Given the description of an element on the screen output the (x, y) to click on. 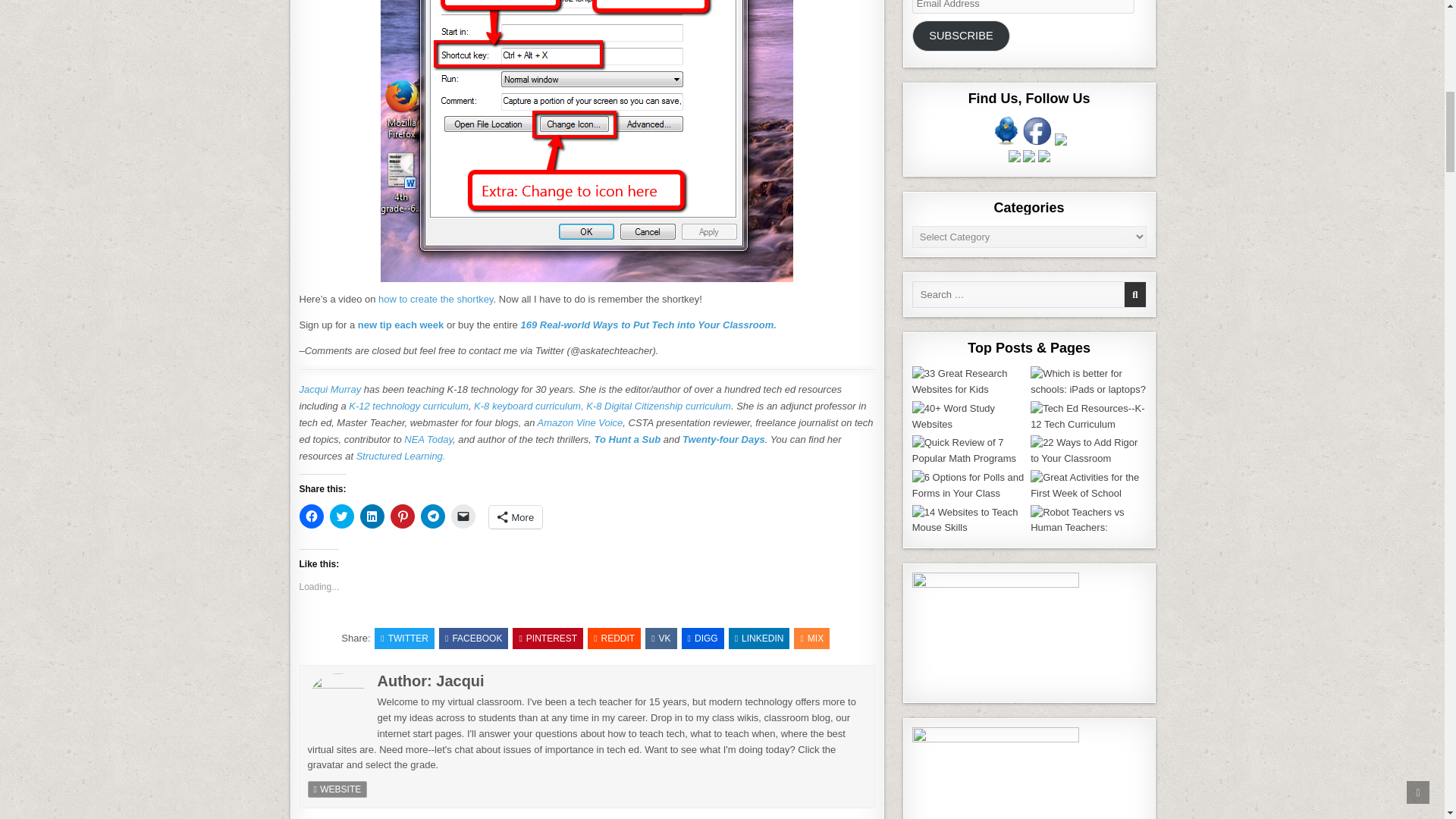
Click to share on LinkedIn (371, 516)
Click to share on Telegram (432, 516)
Click to share on Pinterest (401, 516)
Click to share on Facebook (310, 516)
Click to email a link to a friend (461, 516)
Click to share on Twitter (341, 516)
